Given the description of an element on the screen output the (x, y) to click on. 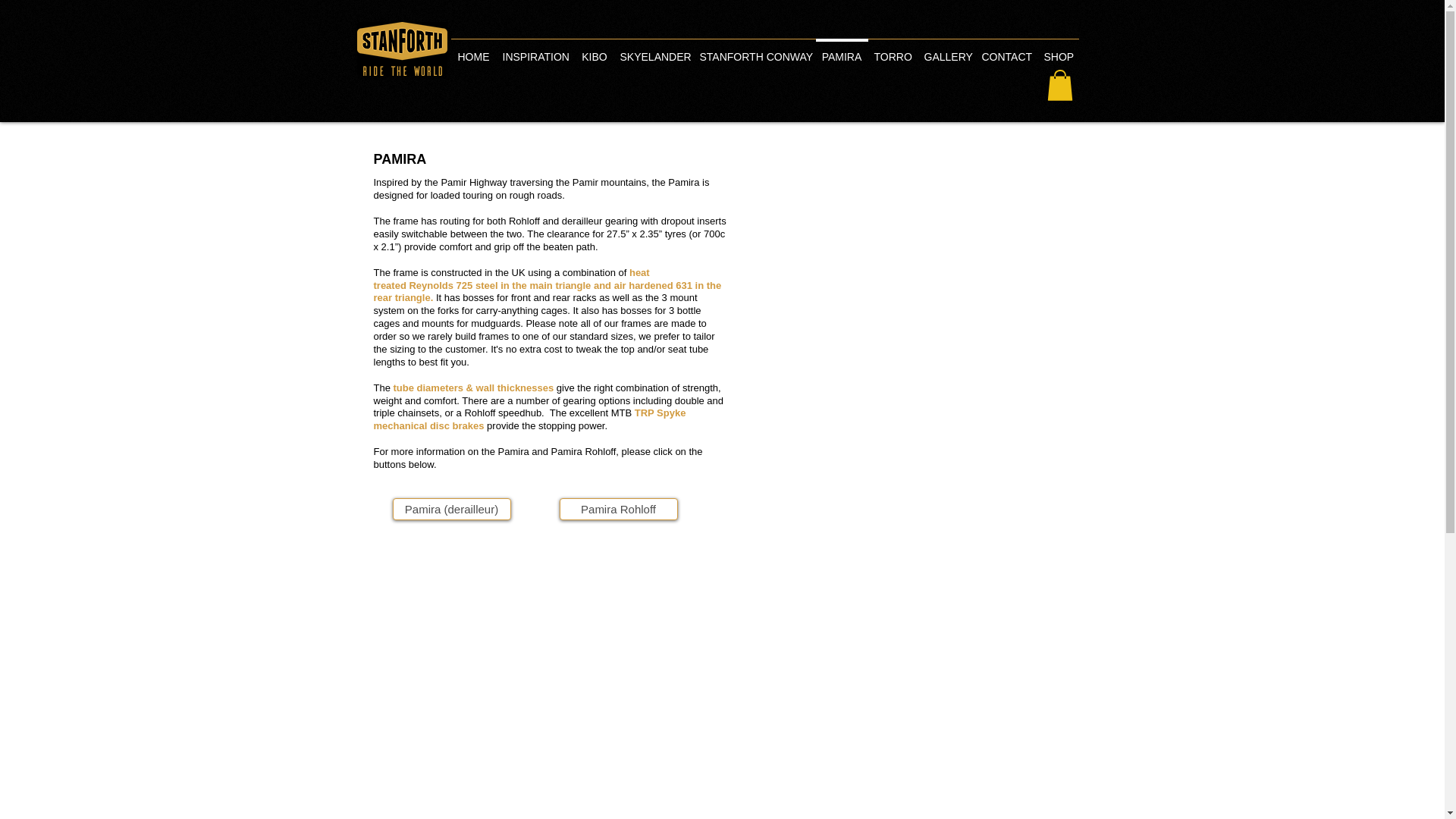
SKYELANDER (654, 49)
STANFORTH CONWAY (754, 49)
TORRO (892, 49)
KIBO (593, 49)
HOME (472, 49)
PAMIRA (841, 49)
INSPIRATION (535, 49)
